Given the description of an element on the screen output the (x, y) to click on. 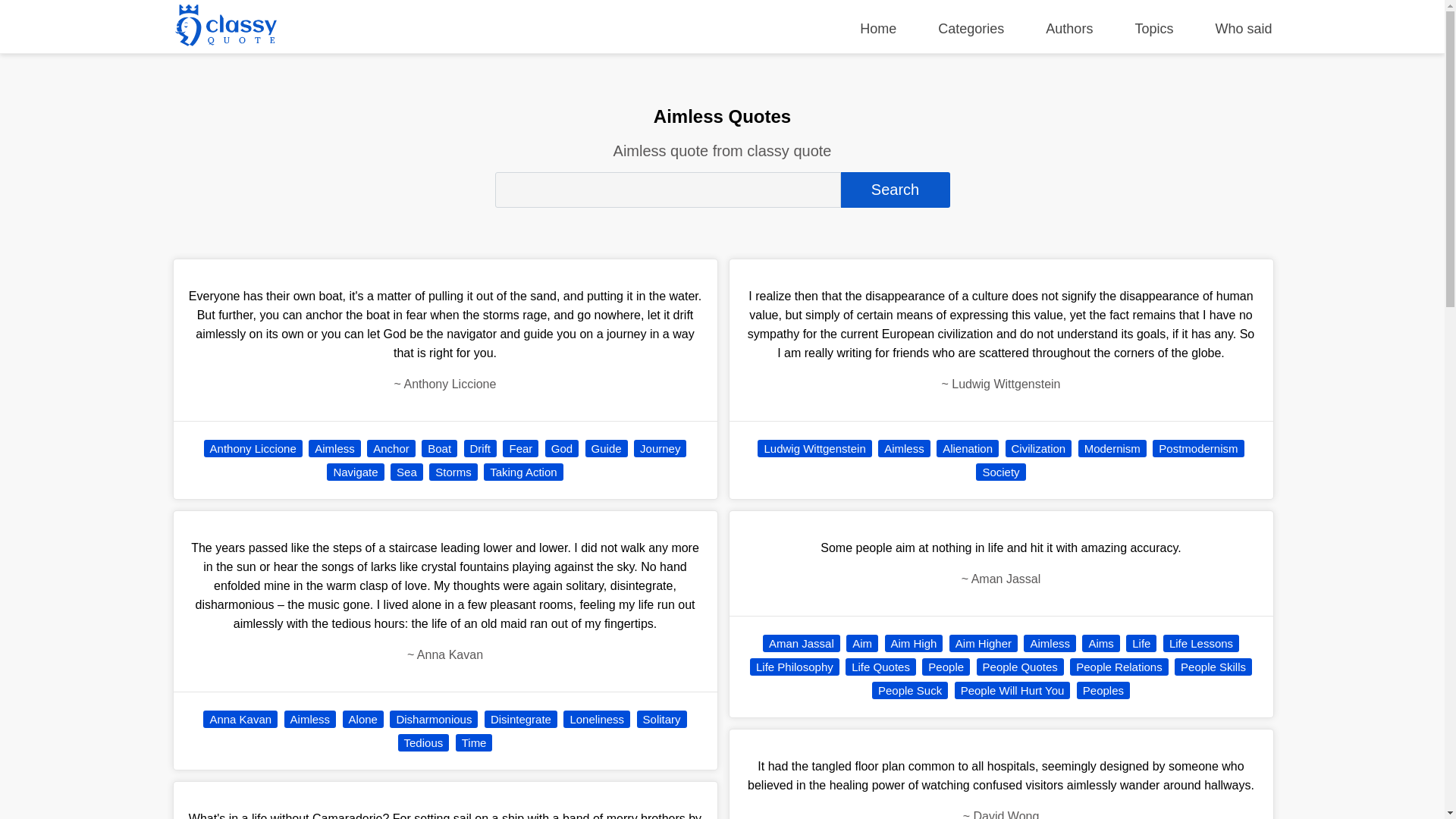
Storms (453, 471)
Disharmonious (433, 719)
Anchor (390, 448)
Journey (659, 448)
Who said (1242, 28)
Search (894, 189)
Fear (520, 448)
Anna Kavan (240, 719)
Topics (1153, 28)
God (561, 448)
